Given the description of an element on the screen output the (x, y) to click on. 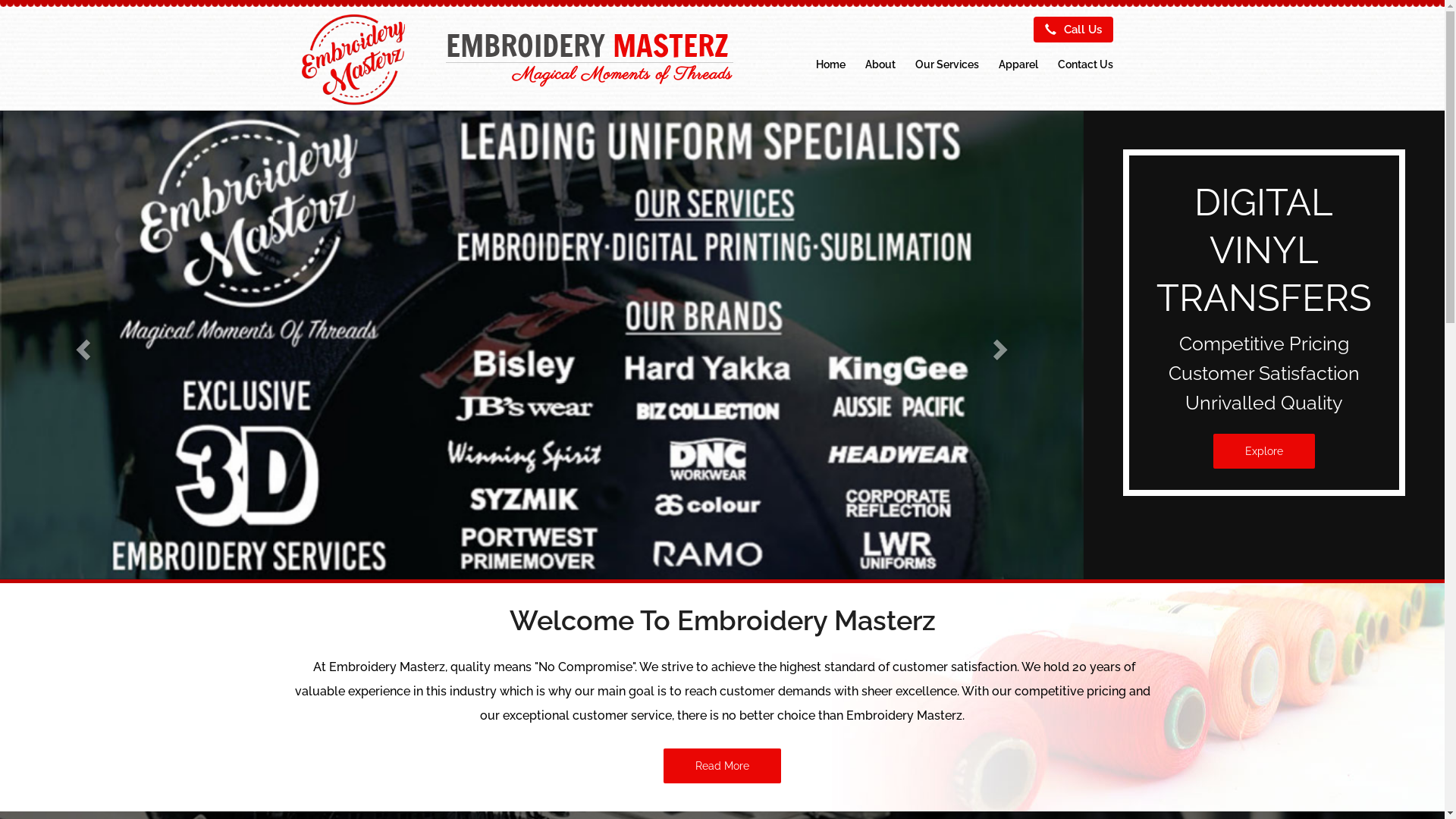
About Element type: text (880, 64)
Apparel Element type: text (1018, 64)
Read More Element type: text (722, 765)
Call Us Element type: text (1072, 29)
Our Services Element type: text (946, 64)
Previous Element type: text (81, 344)
Explore Element type: text (1263, 450)
Home Element type: text (829, 64)
Next Element type: text (1001, 344)
Contact Us Element type: text (1085, 64)
